Given the description of an element on the screen output the (x, y) to click on. 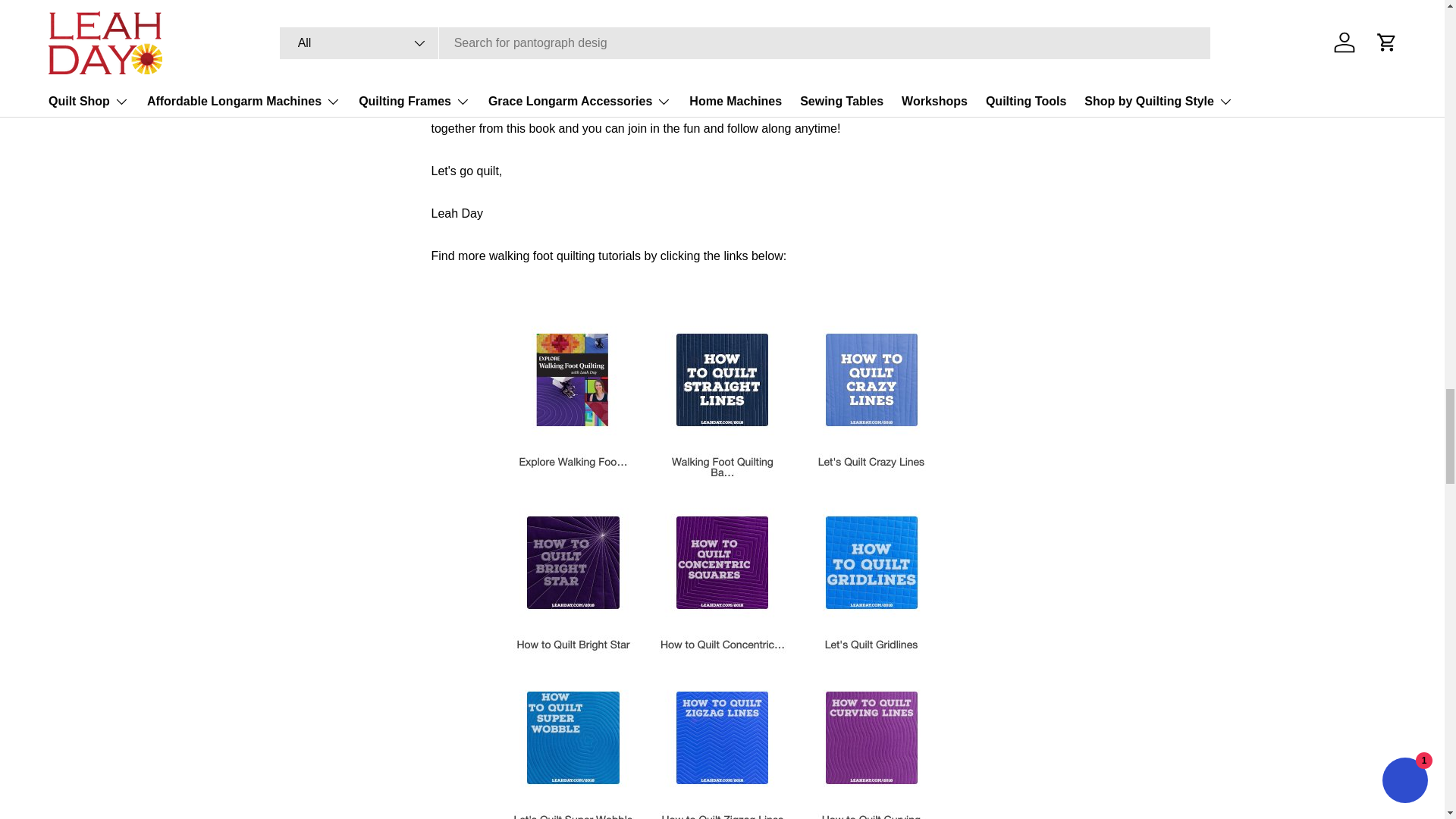
Walking Foot Quilting Videos (581, 110)
Explore walking foot quilting with Leah Day (721, 8)
